Given the description of an element on the screen output the (x, y) to click on. 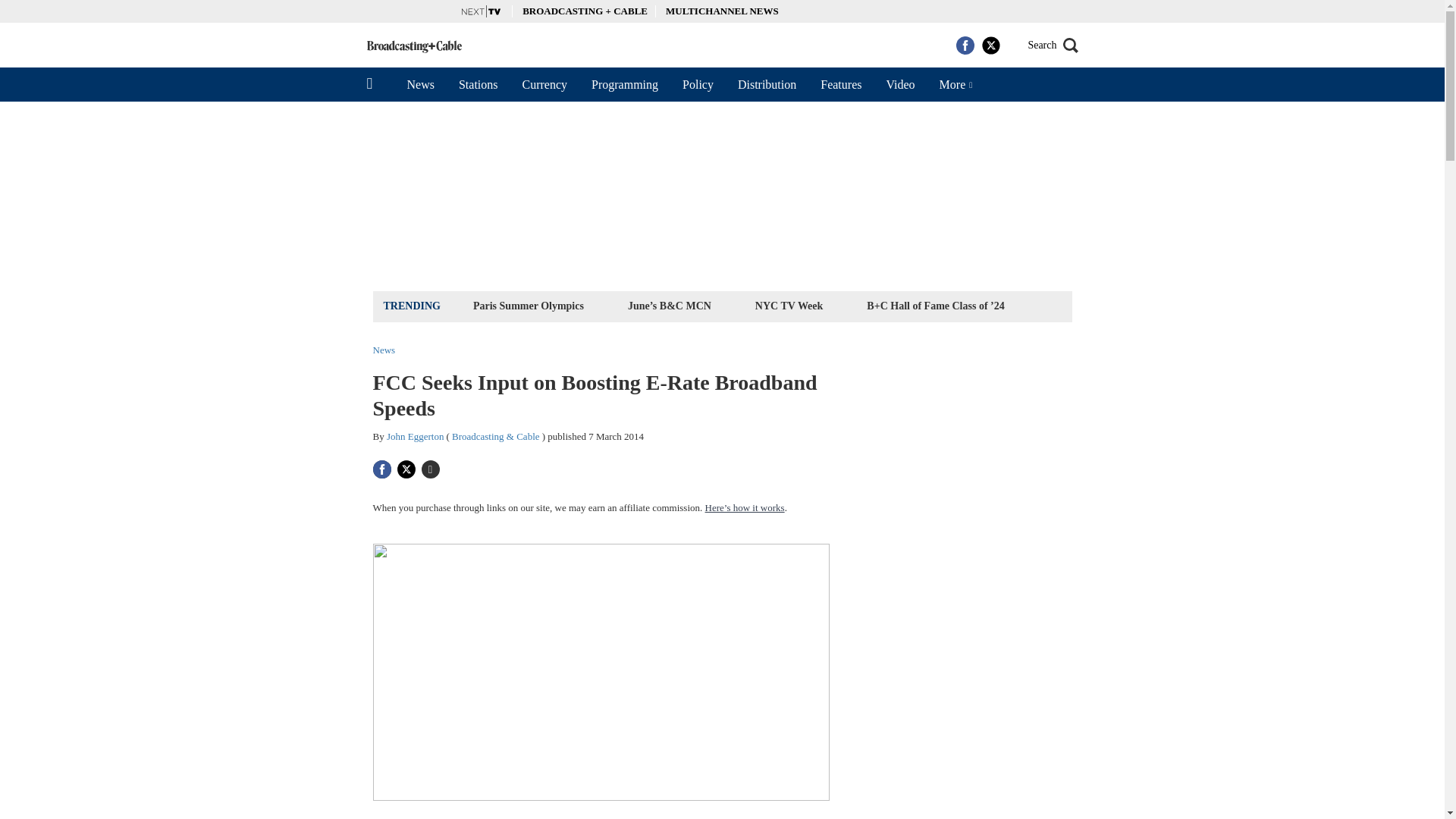
John Eggerton (415, 436)
Paris Summer Olympics (528, 305)
Programming (624, 84)
Stations (478, 84)
Distribution (766, 84)
Video (899, 84)
Currency (544, 84)
NYC TV Week (788, 305)
News (419, 84)
MULTICHANNEL NEWS (721, 10)
